Given the description of an element on the screen output the (x, y) to click on. 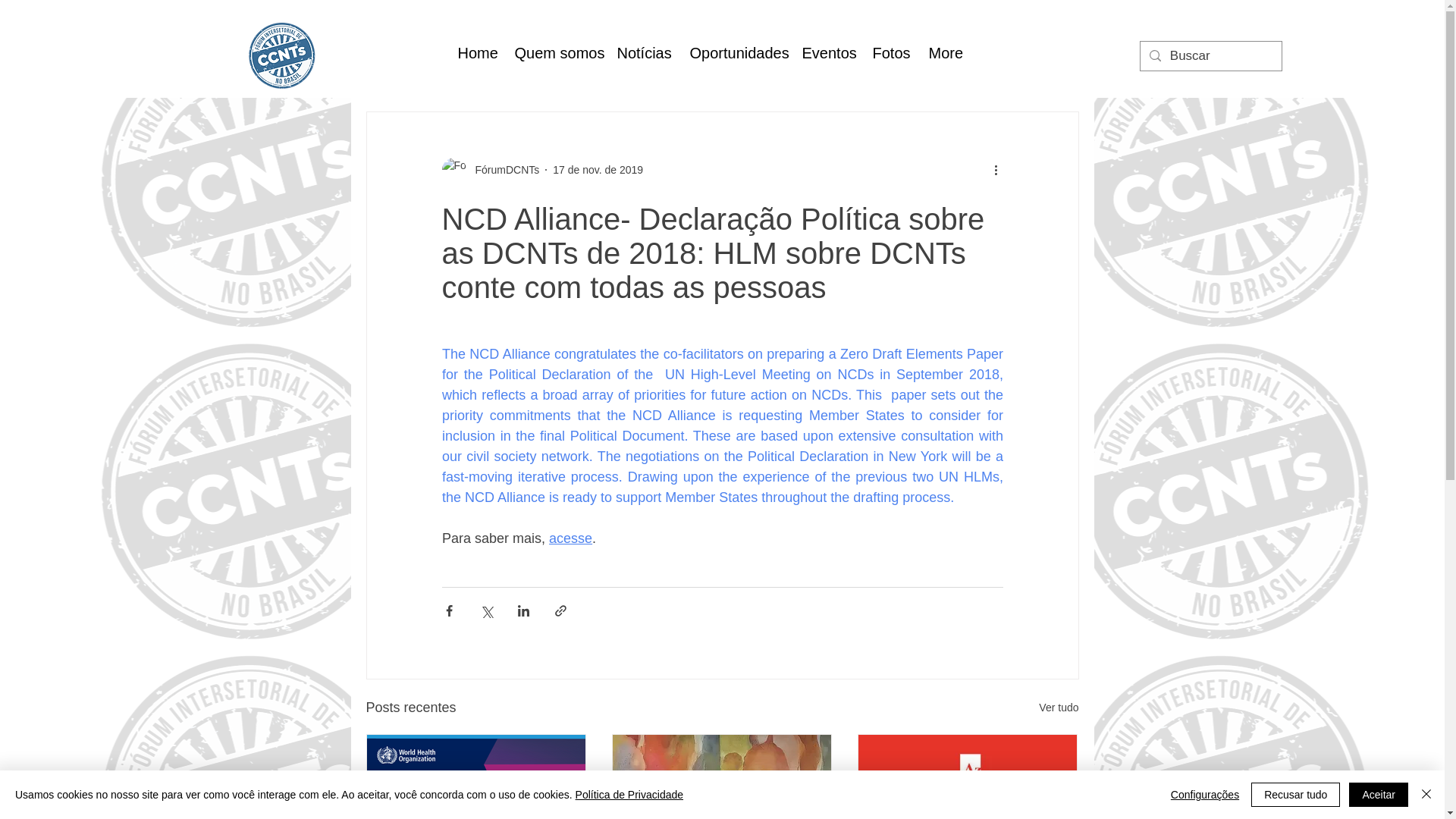
Oportunidades (734, 52)
Home (473, 52)
Eventos (825, 52)
17 de nov. de 2019 (598, 169)
Quem somos (554, 52)
Ver tudo (1058, 707)
acesse (570, 538)
Fotos (889, 52)
